Given the description of an element on the screen output the (x, y) to click on. 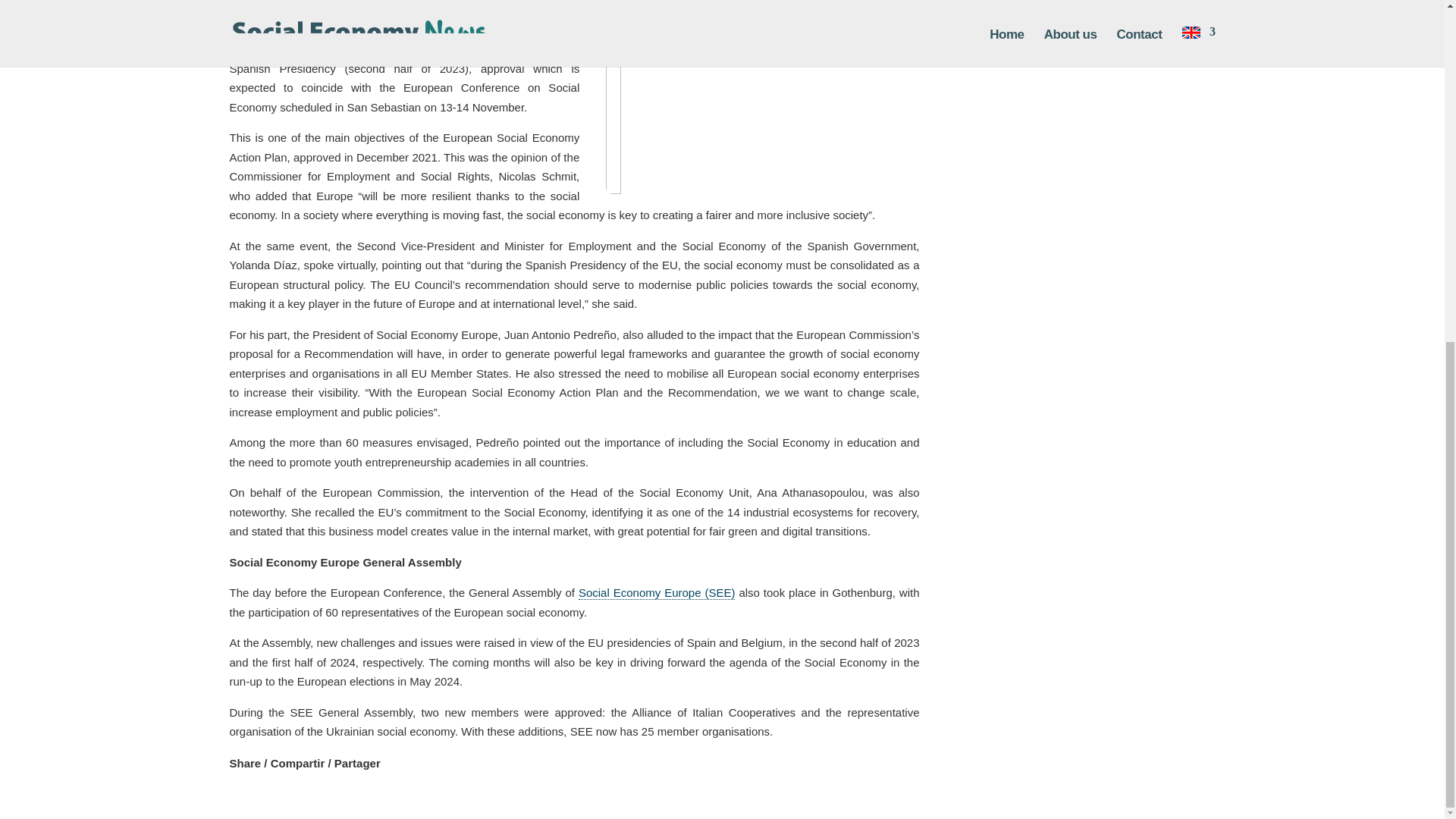
Goteborg (761, 97)
